Given the description of an element on the screen output the (x, y) to click on. 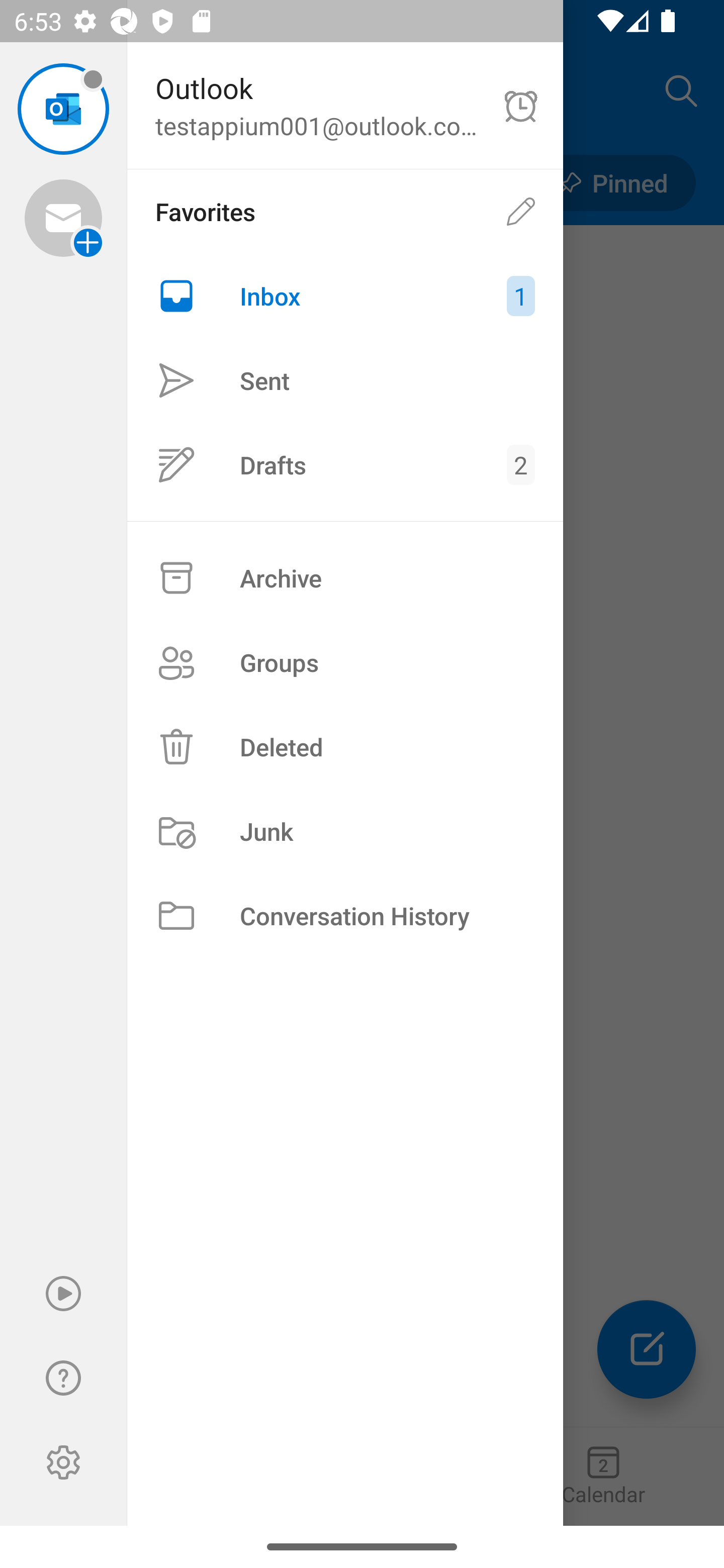
Do not disturb off (520, 105)
testappium001@outlook.com (63, 108)
Edit favorites (520, 211)
Add account (63, 217)
Inbox 1 1 unread email (345, 296)
Sent (345, 380)
Drafts 2 2 unread emails (345, 464)
Archive (345, 578)
Groups (345, 662)
Deleted (345, 746)
Junk (345, 830)
Conversation History (345, 915)
Play My Emails (62, 1293)
Help (62, 1377)
Settings (62, 1462)
